Given the description of an element on the screen output the (x, y) to click on. 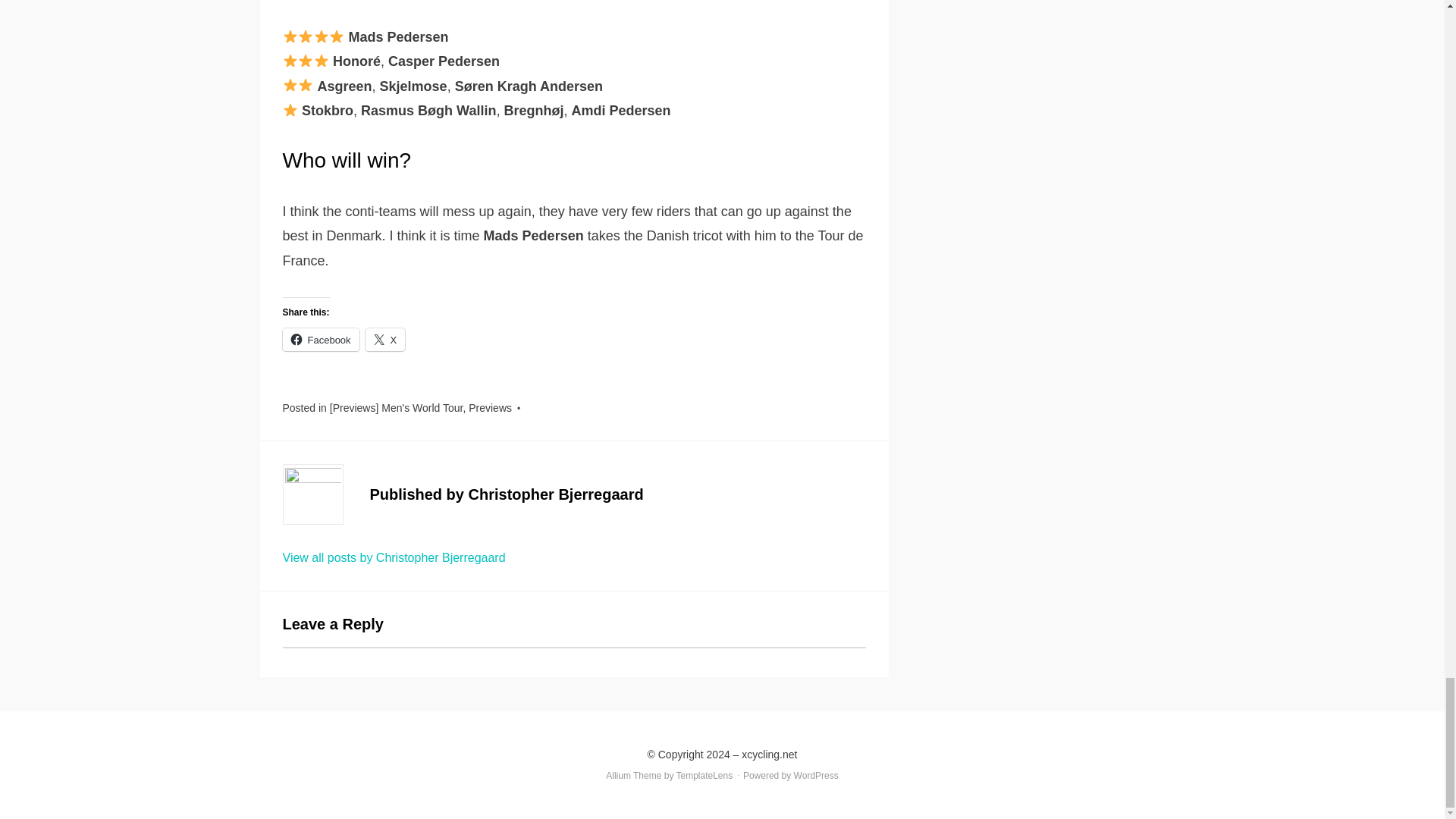
WordPress (815, 775)
Facebook (320, 339)
Click to share on Facebook (320, 339)
X (385, 339)
xcycling.net (768, 754)
TemplateLens (705, 775)
TemplateLens (705, 775)
Click to share on X (385, 339)
View all posts by Christopher Bjerregaard (393, 557)
WordPress (815, 775)
Previews (490, 408)
